Given the description of an element on the screen output the (x, y) to click on. 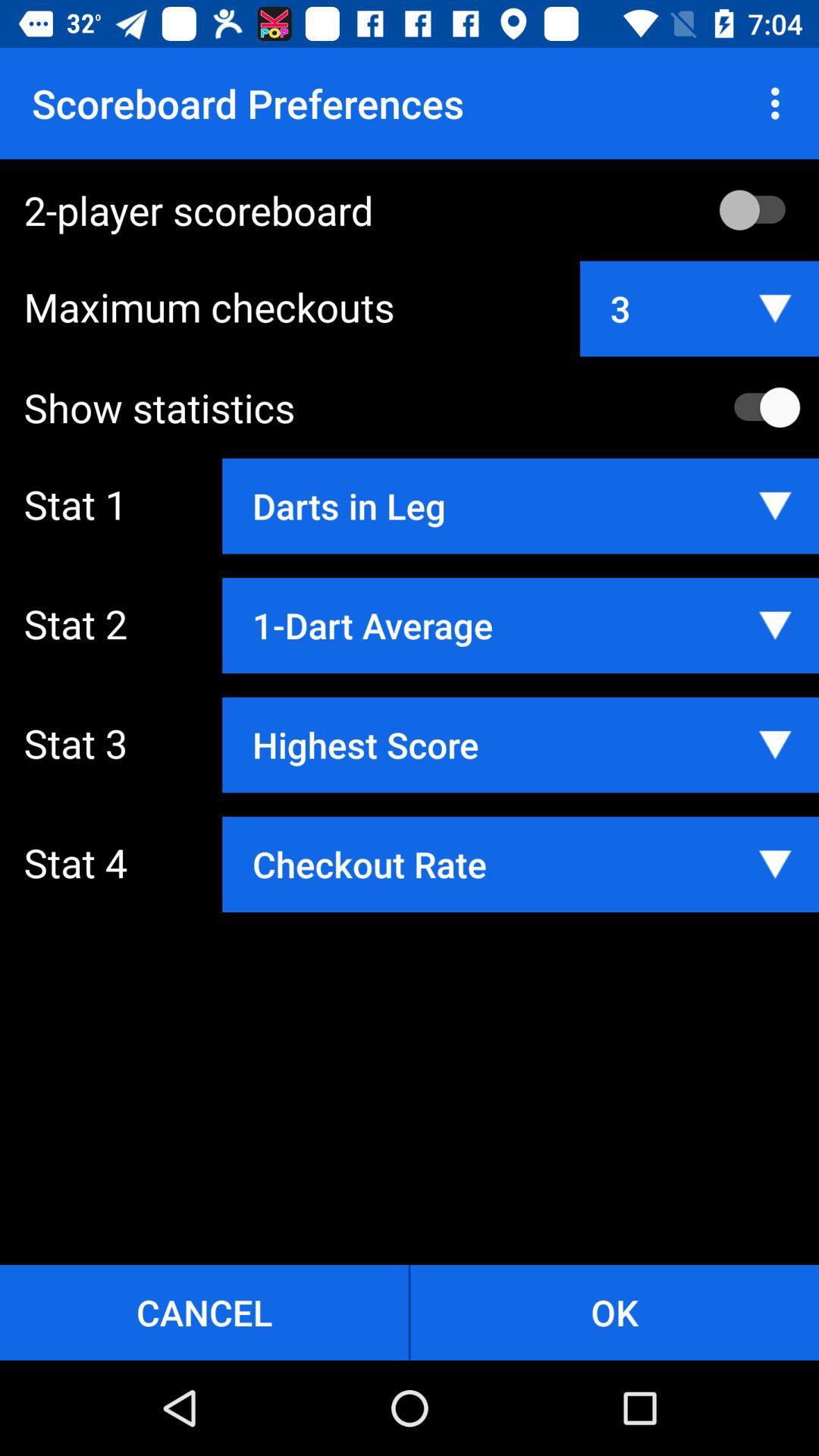
launch the checkout rate icon (520, 864)
